Given the description of an element on the screen output the (x, y) to click on. 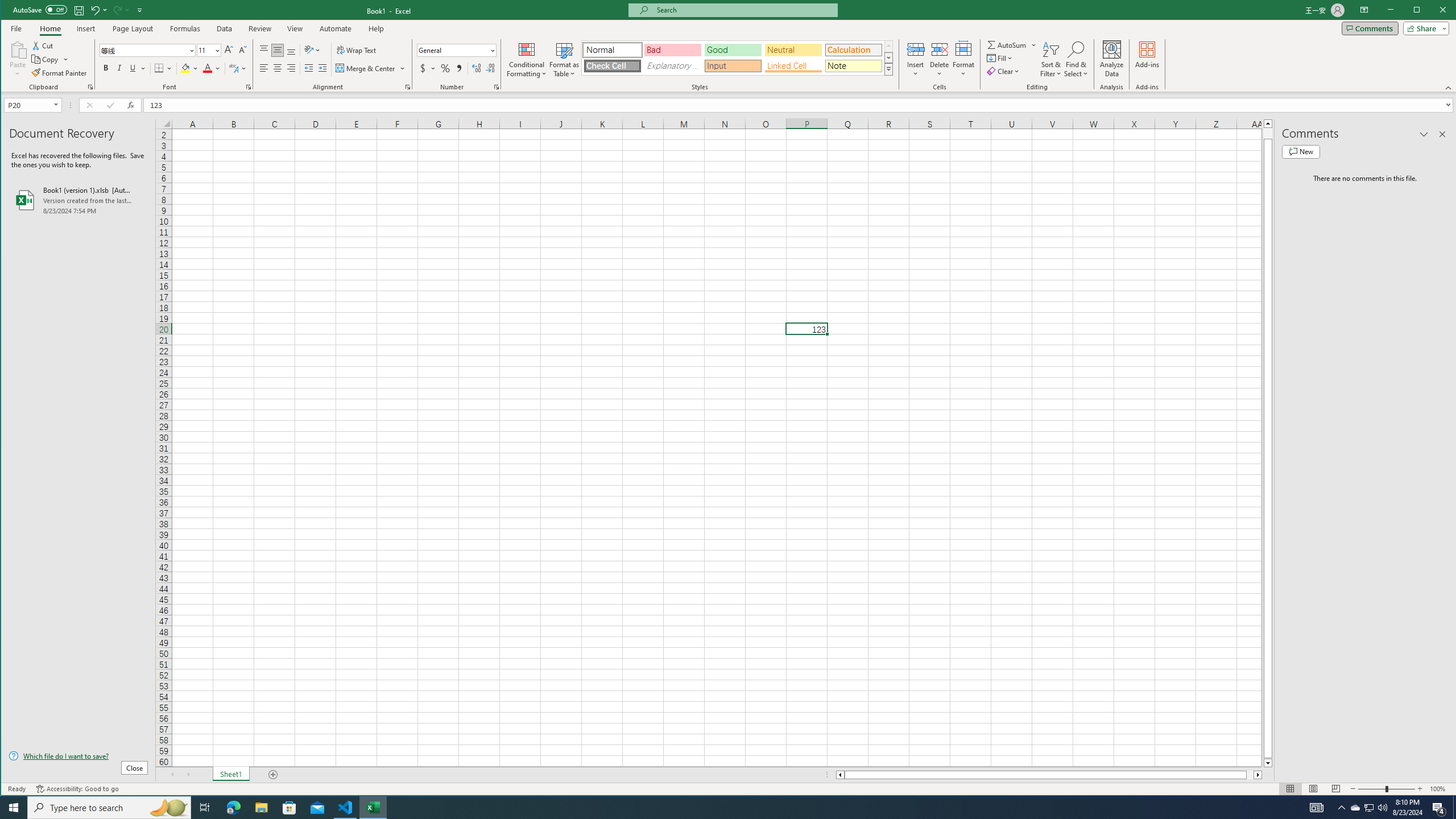
Q2790: 100% (1382, 807)
Borders (163, 68)
Input (732, 65)
